Given the description of an element on the screen output the (x, y) to click on. 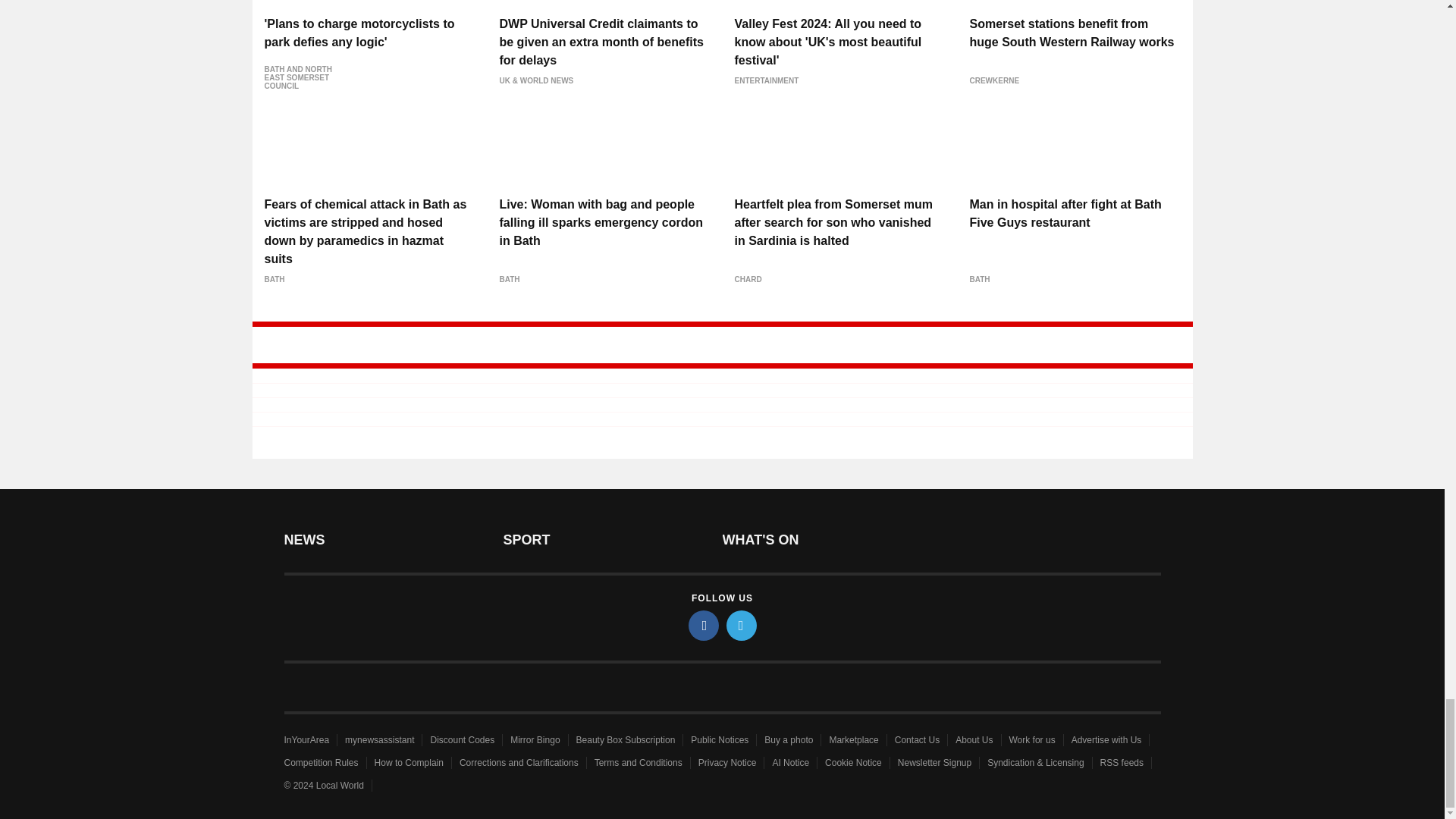
twitter (741, 625)
facebook (703, 625)
